Given the description of an element on the screen output the (x, y) to click on. 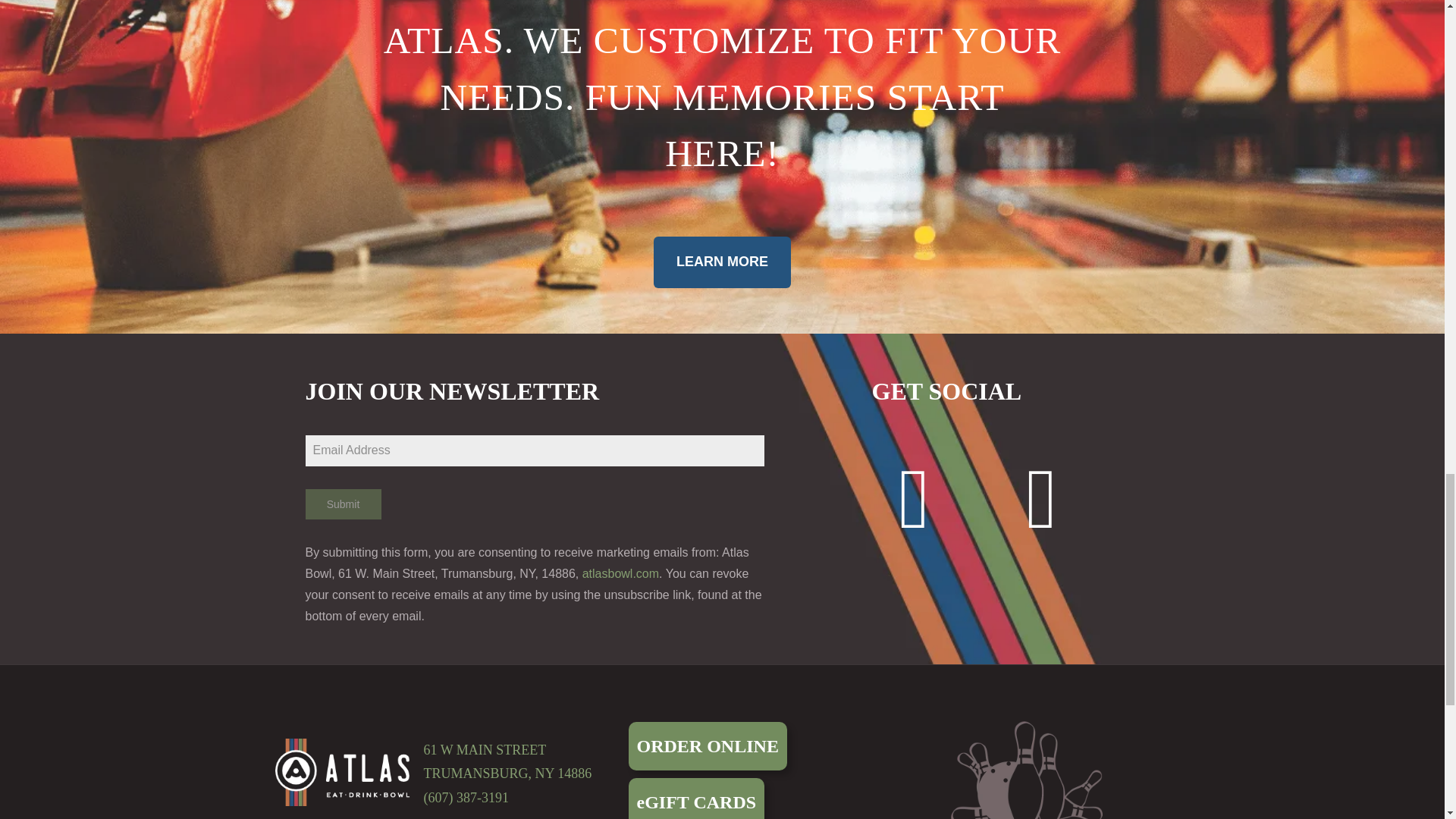
ORDER ONLINE (706, 745)
atlasbowl.com (620, 573)
eGIFT CARDS (695, 798)
Submit (342, 503)
TRUMANSBURG, NY 14886 (507, 773)
61 W MAIN STREET (484, 749)
LEARN MORE (721, 262)
